Given the description of an element on the screen output the (x, y) to click on. 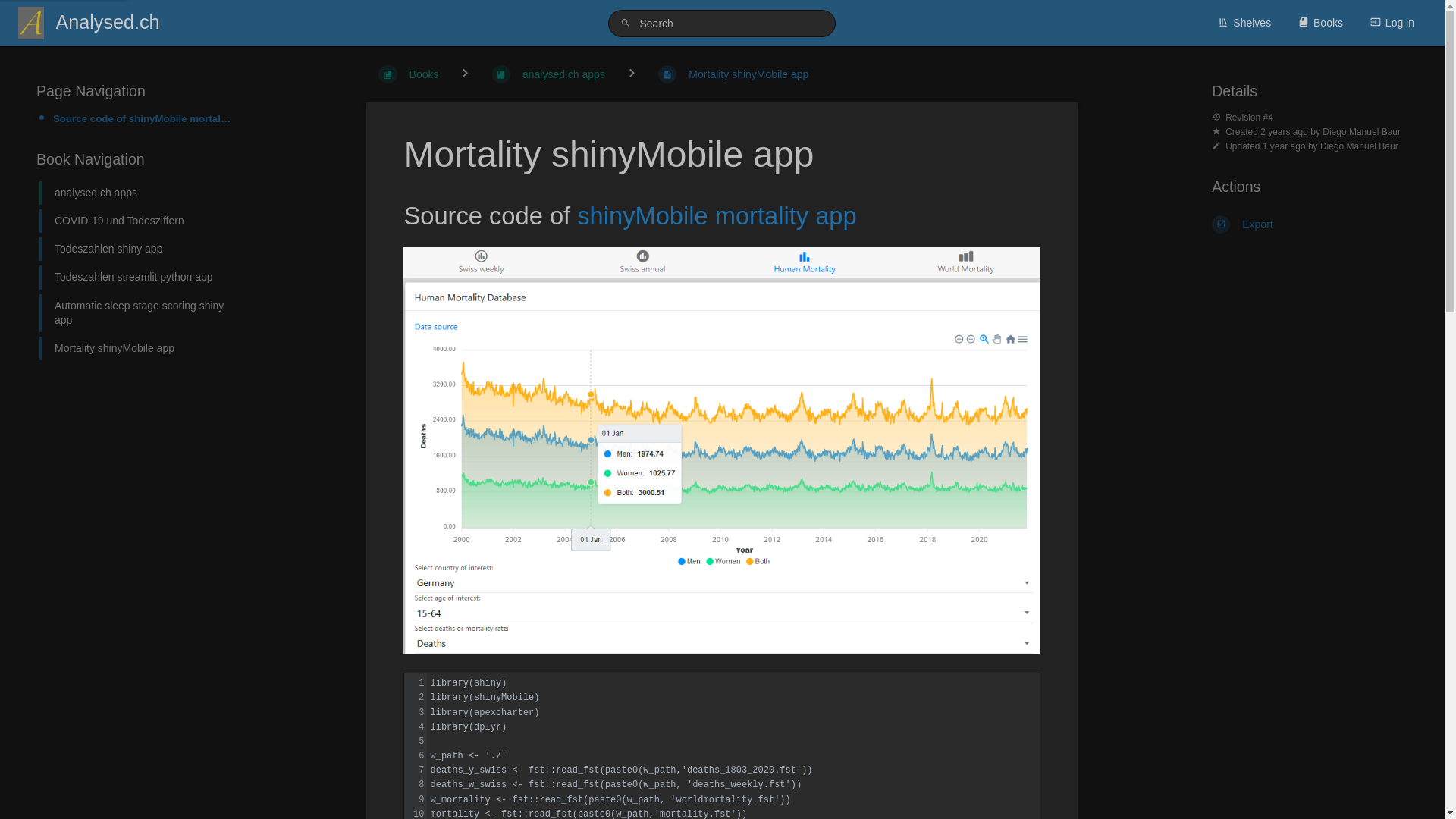
shinyMobile mortality app Element type: text (716, 215)
Source code of shinyMobile mortality app Element type: text (142, 118)
Books Element type: text (408, 73)
Shelves Element type: text (1244, 22)
Books Element type: text (1320, 22)
COVID-19 und Todesziffern Element type: text (134, 221)
Diego Manuel Baur Element type: text (1359, 146)
Todeszahlen shiny app Element type: text (134, 249)
analysed.ch apps Element type: text (548, 73)
Analysed.ch Element type: text (98, 22)
Mortality shinyMobile app Element type: text (134, 348)
Diego Manuel Baur Element type: text (1361, 131)
Log in Element type: text (1392, 22)
Automatic sleep stage scoring shiny app Element type: text (134, 313)
Todeszahlen streamlit python app Element type: text (134, 277)
analysed.ch apps Element type: text (134, 192)
Mortality shinyMobile app Element type: text (733, 73)
